Given the description of an element on the screen output the (x, y) to click on. 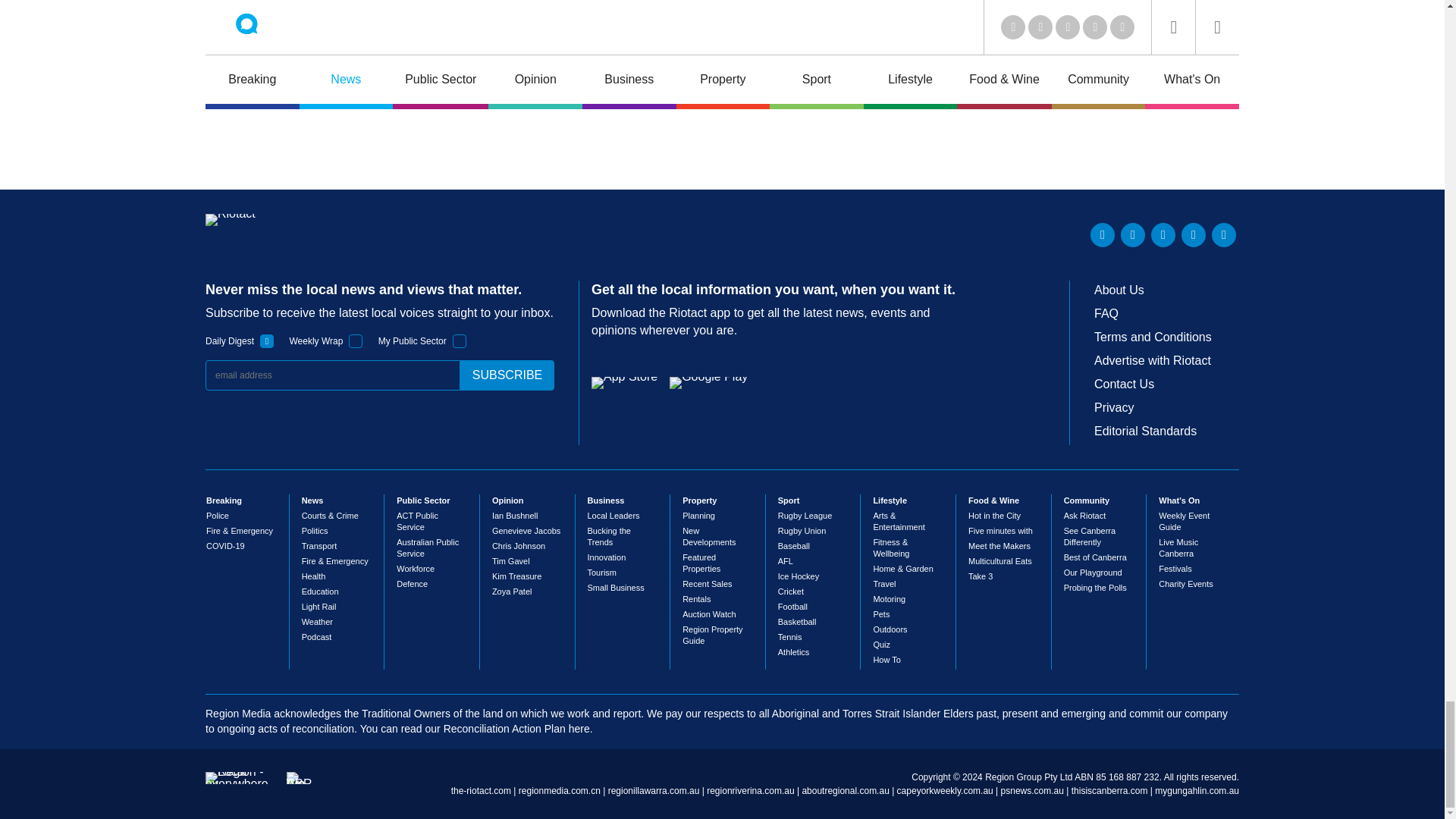
Facebook (1192, 234)
App Store (624, 382)
1 (355, 341)
Twitter (1132, 234)
Instagram (1223, 234)
Youtube (1162, 234)
LinkedIn (1102, 234)
subscribe (507, 375)
1 (266, 341)
1 (458, 341)
